Given the description of an element on the screen output the (x, y) to click on. 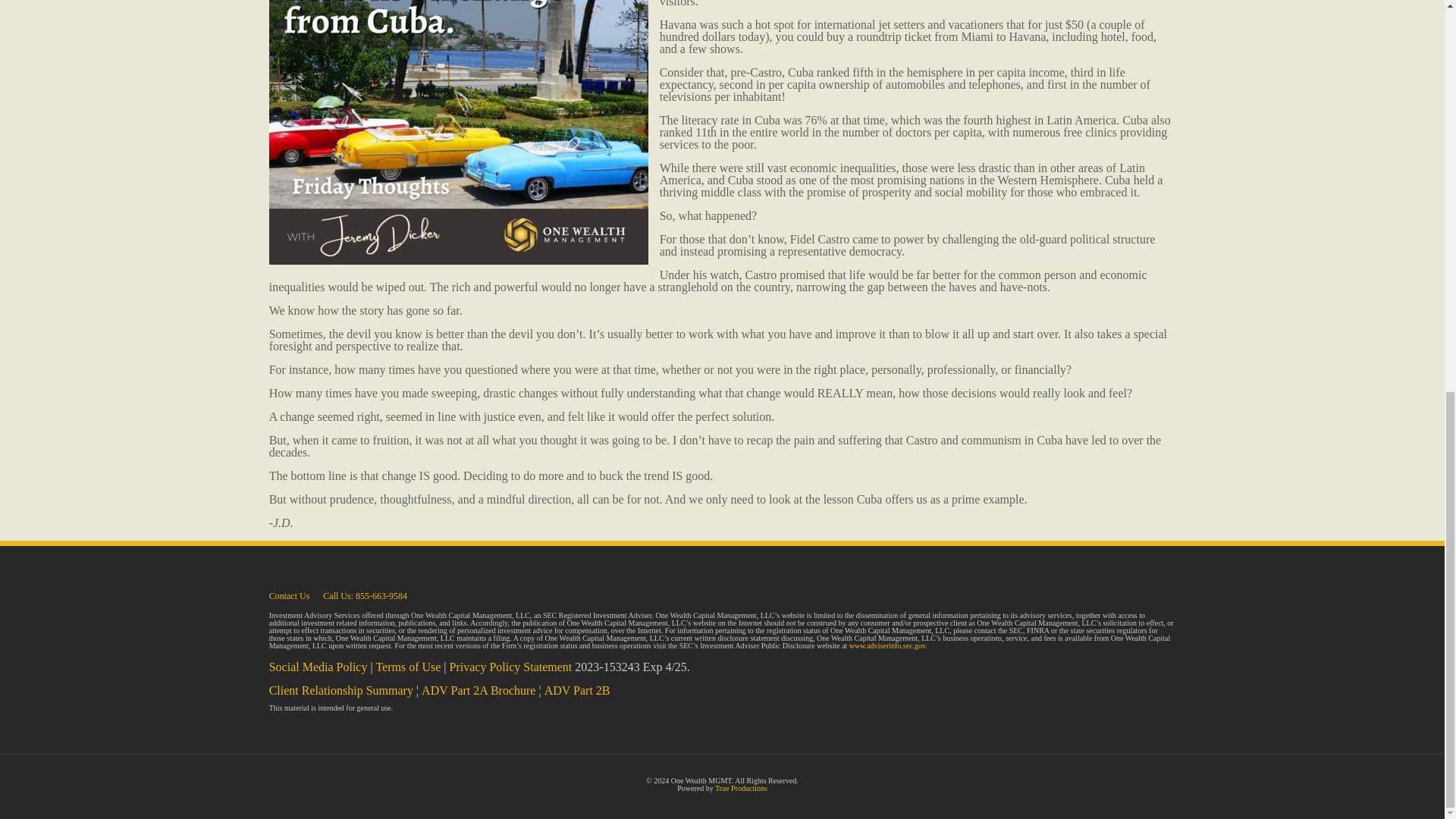
Social Media Policy (318, 666)
Contact Us (289, 595)
Privacy Policy Statement (510, 666)
www.adviserinfo.sec.gov. (887, 645)
ADV Part 2B (577, 689)
Client Relationship Summary (341, 689)
Terms of Use (408, 666)
ADV Part 2A Brochure (478, 689)
True Productions (740, 787)
Call Us: 855-663-9584 (365, 595)
